Given the description of an element on the screen output the (x, y) to click on. 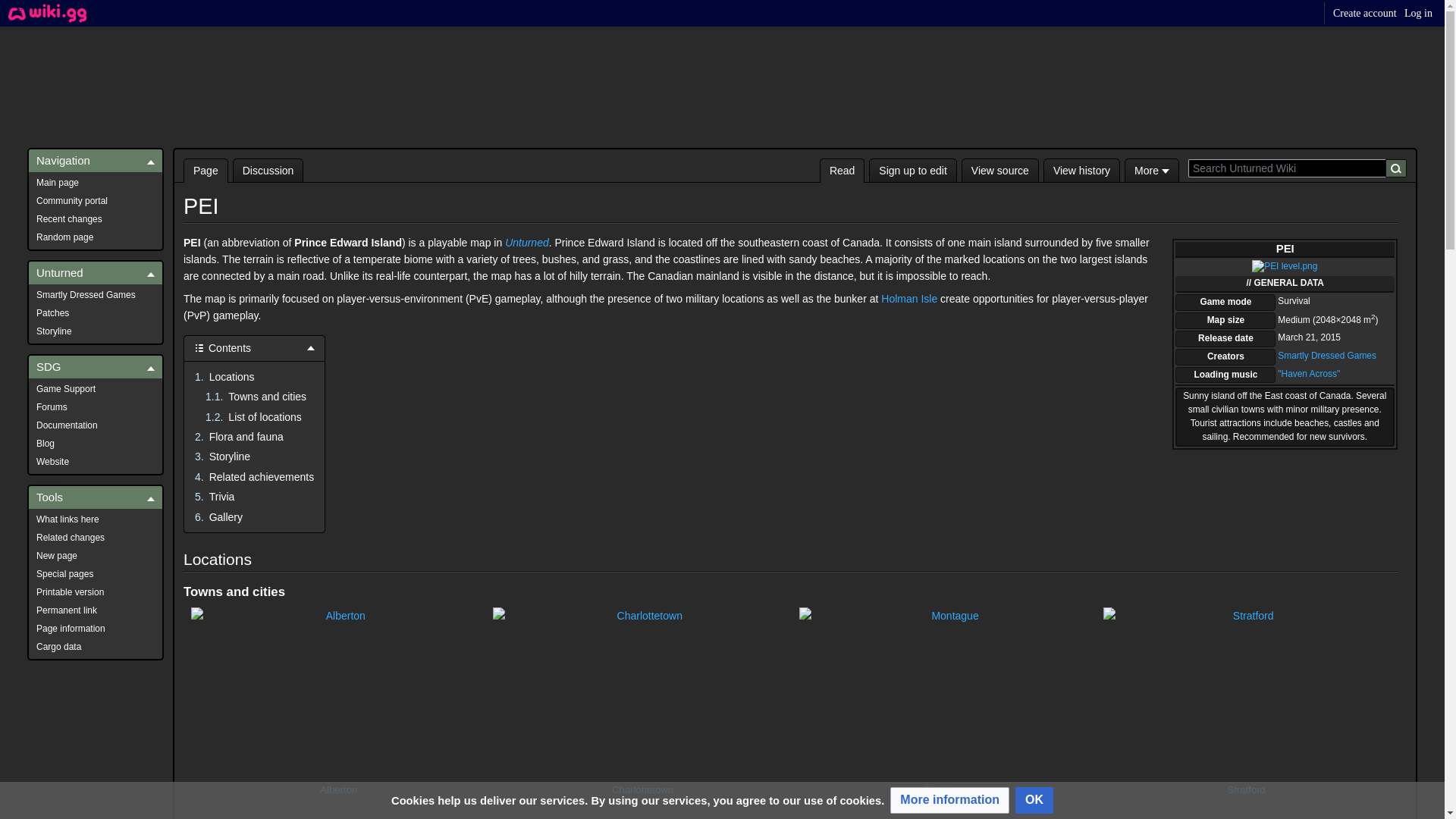
Main page (95, 182)
Unturned (526, 242)
Discussion (267, 169)
Search (1395, 167)
Search the pages for this text (1395, 167)
Game Support (95, 389)
Community portal (95, 200)
About the project, what you can do, where to find things (95, 200)
Sign up to edit (912, 169)
Create account (1364, 12)
